Given the description of an element on the screen output the (x, y) to click on. 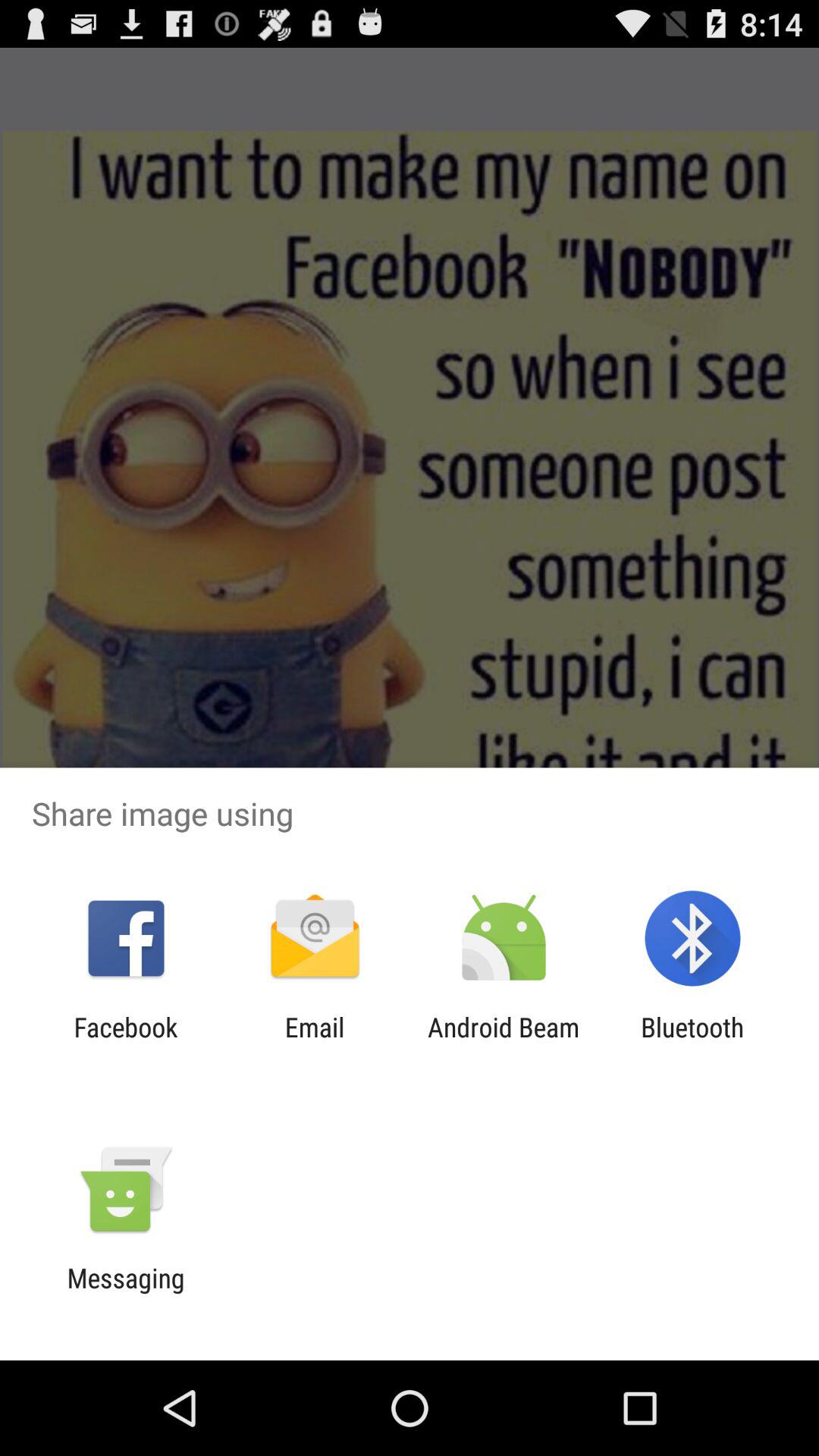
flip until messaging (125, 1293)
